Given the description of an element on the screen output the (x, y) to click on. 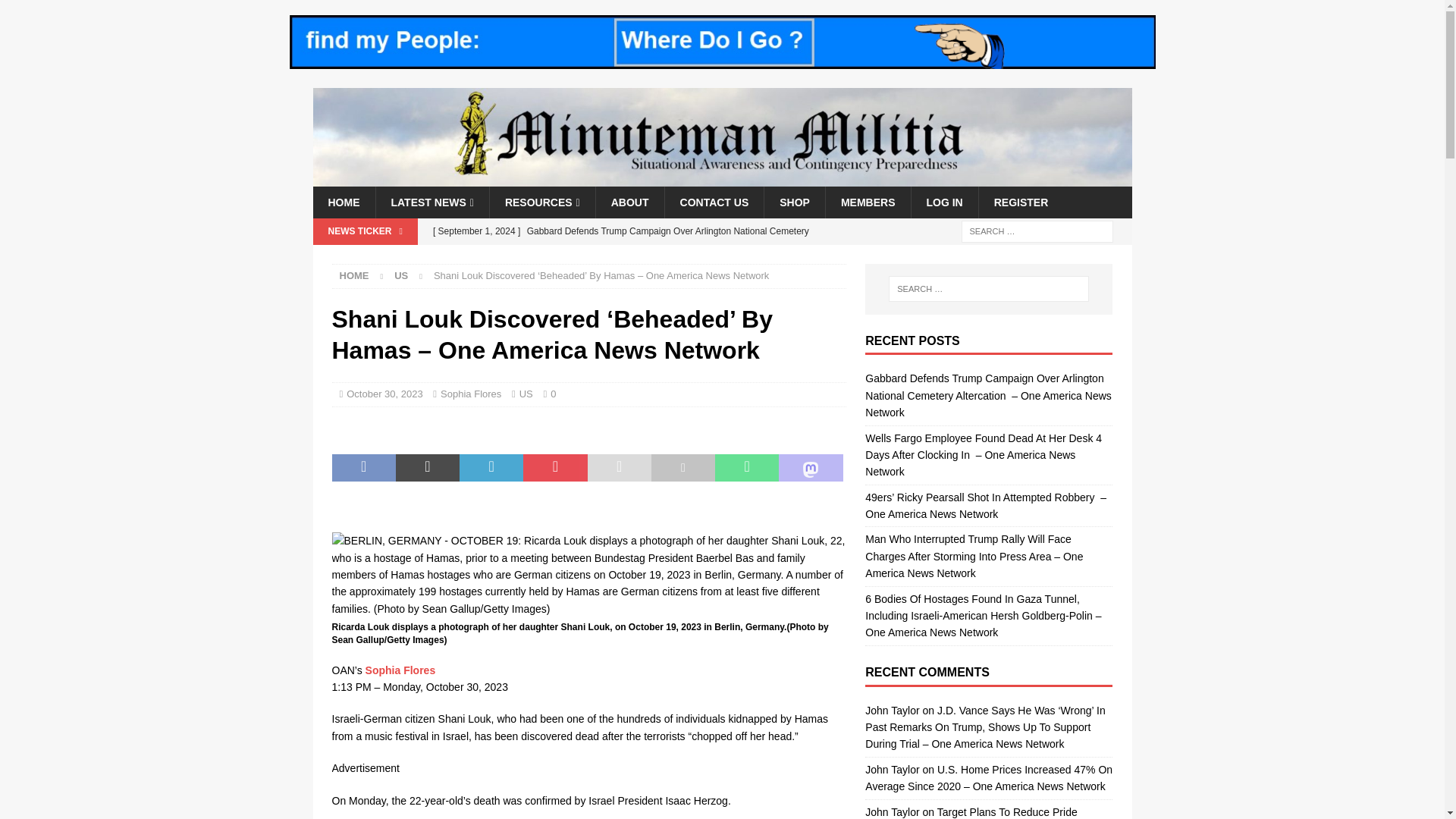
Tweet This Post (428, 467)
LATEST NEWS (430, 202)
ABOUT (629, 202)
Share on Facebook (363, 467)
Pin This Post (554, 467)
SHOP (793, 202)
Minuteman Militia (722, 177)
Send this article to a friend (619, 467)
Share on LinkedIn (491, 467)
RESOURCES (542, 202)
